Given the description of an element on the screen output the (x, y) to click on. 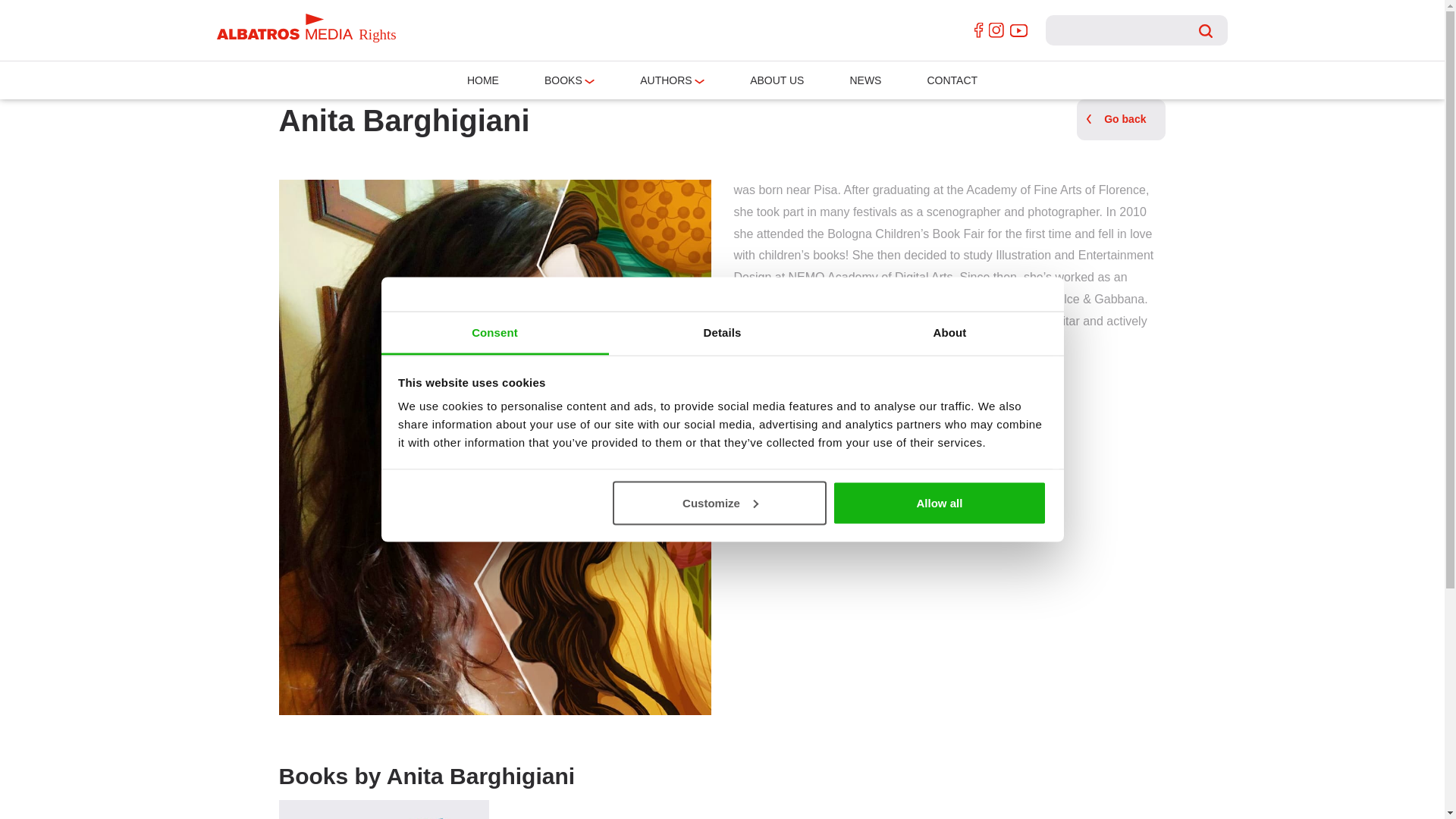
Allow all (939, 502)
Customize (719, 502)
BOOKS (563, 80)
Rights (307, 27)
Rights (307, 41)
About (948, 333)
HOME (483, 80)
Consent (494, 333)
Search (1205, 30)
Search (1205, 30)
Details (721, 333)
